Given the description of an element on the screen output the (x, y) to click on. 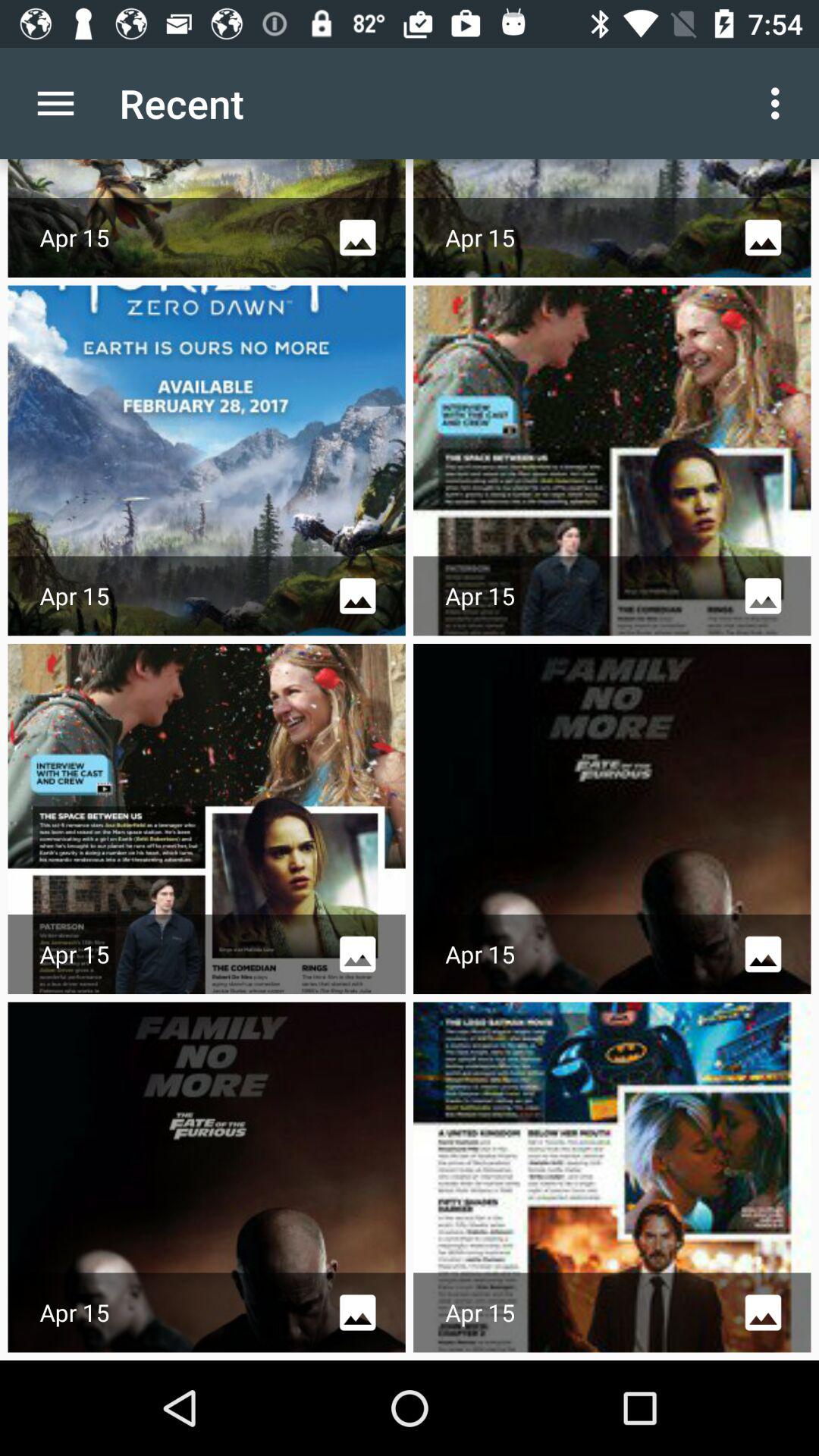
select the first left corner image from bottom (206, 1177)
first option in first row of the page (206, 218)
second option in third row of the page (612, 818)
click on the fist image after the text recent (206, 218)
click on the second image in the 4th row (612, 1177)
click on the box in the bottom right corner (612, 1177)
